Given the description of an element on the screen output the (x, y) to click on. 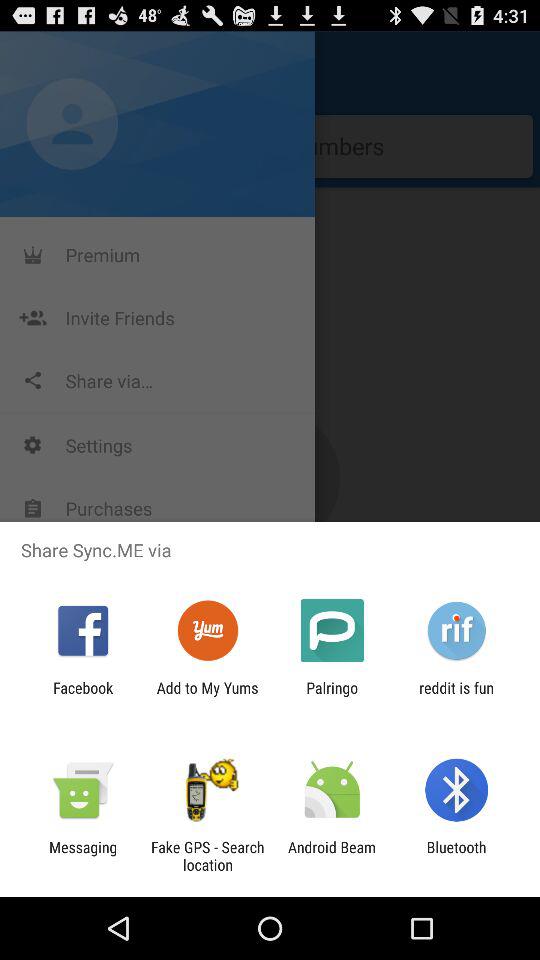
select the palringo (332, 696)
